Given the description of an element on the screen output the (x, y) to click on. 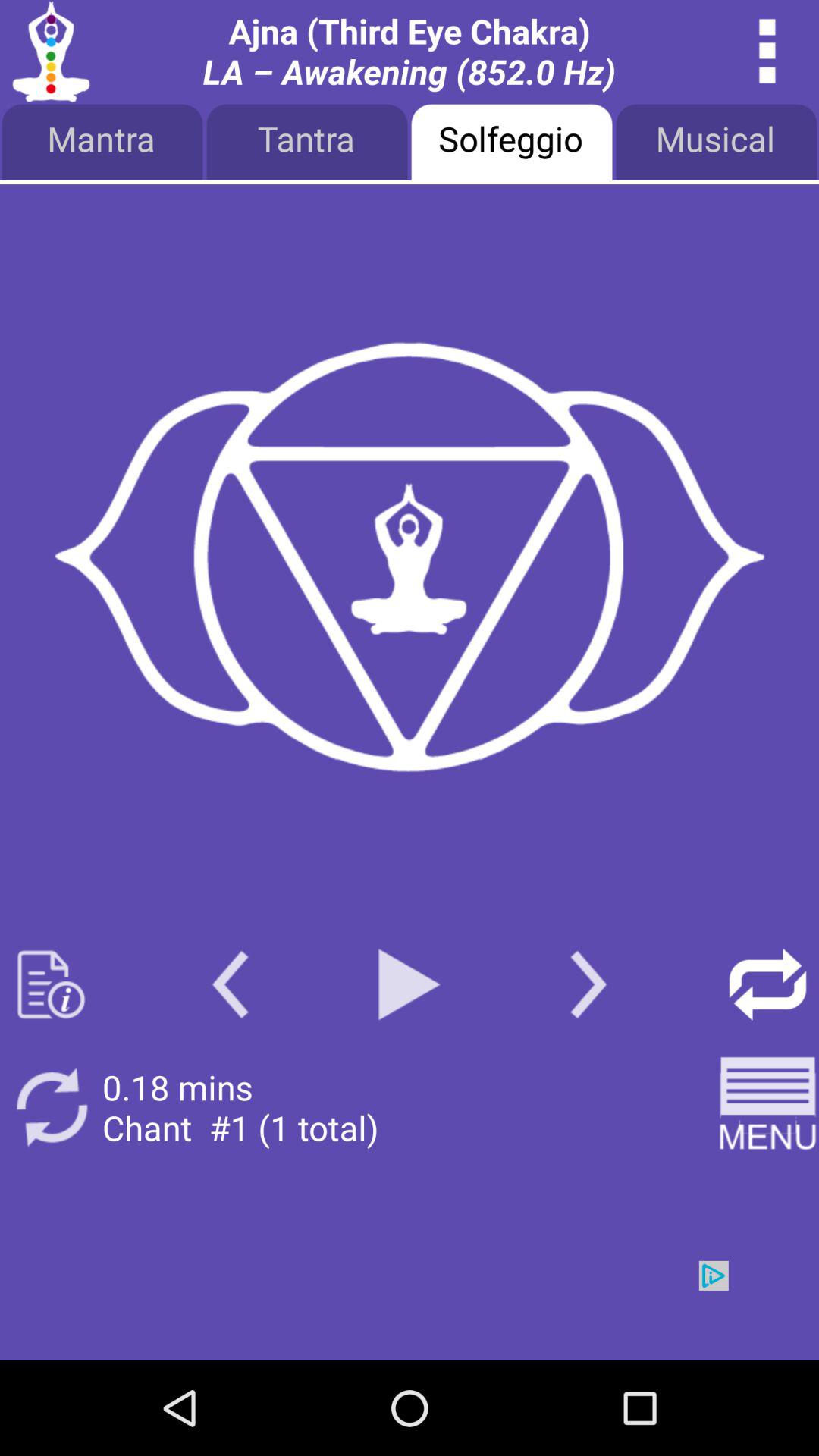
go back button (230, 984)
